Given the description of an element on the screen output the (x, y) to click on. 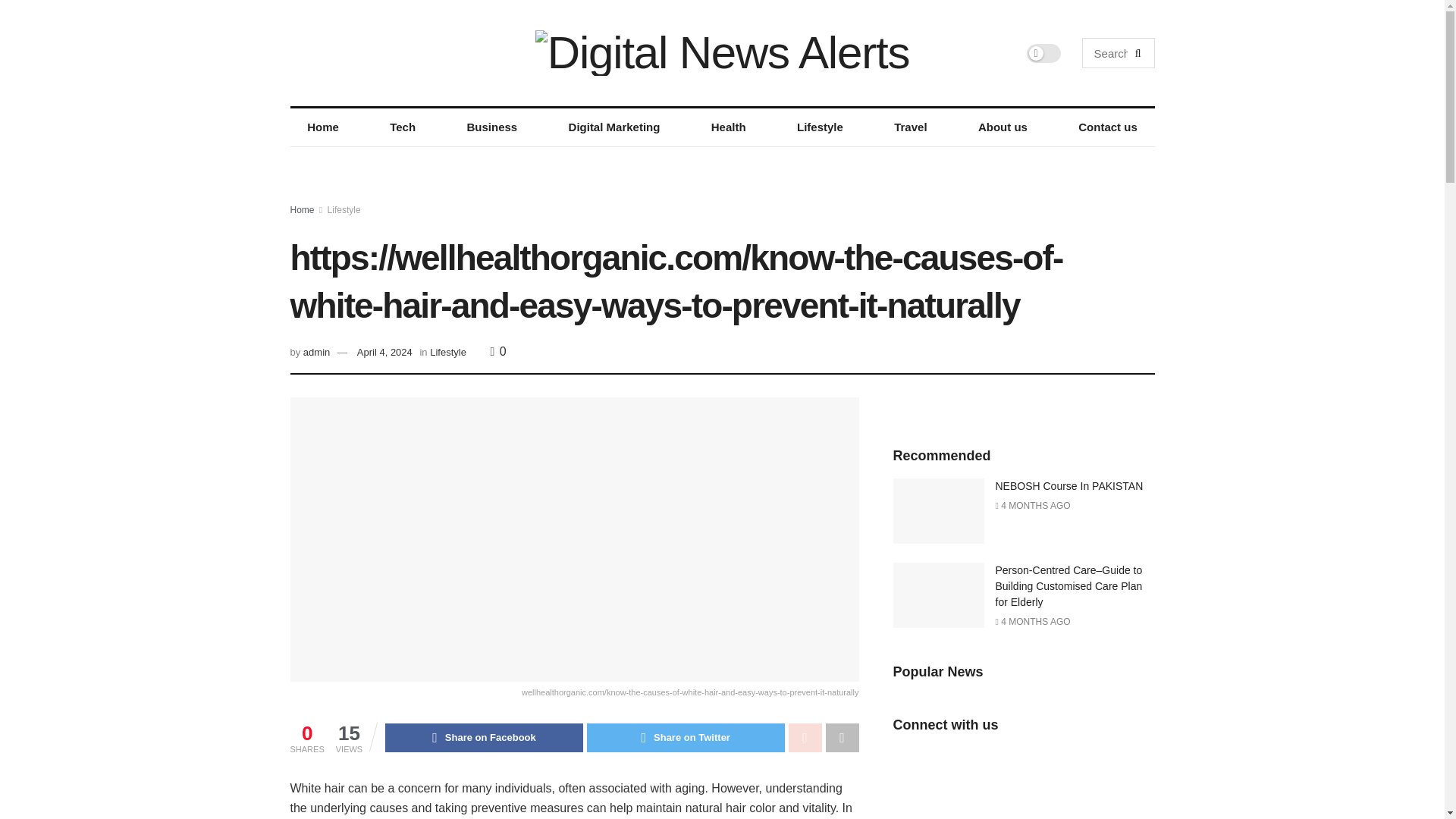
Contact us (1107, 127)
Share on Facebook (484, 737)
Home (322, 127)
Business (491, 127)
0 (498, 350)
Lifestyle (447, 351)
Digital Marketing (614, 127)
April 4, 2024 (384, 351)
Home (301, 209)
admin (316, 351)
